Given the description of an element on the screen output the (x, y) to click on. 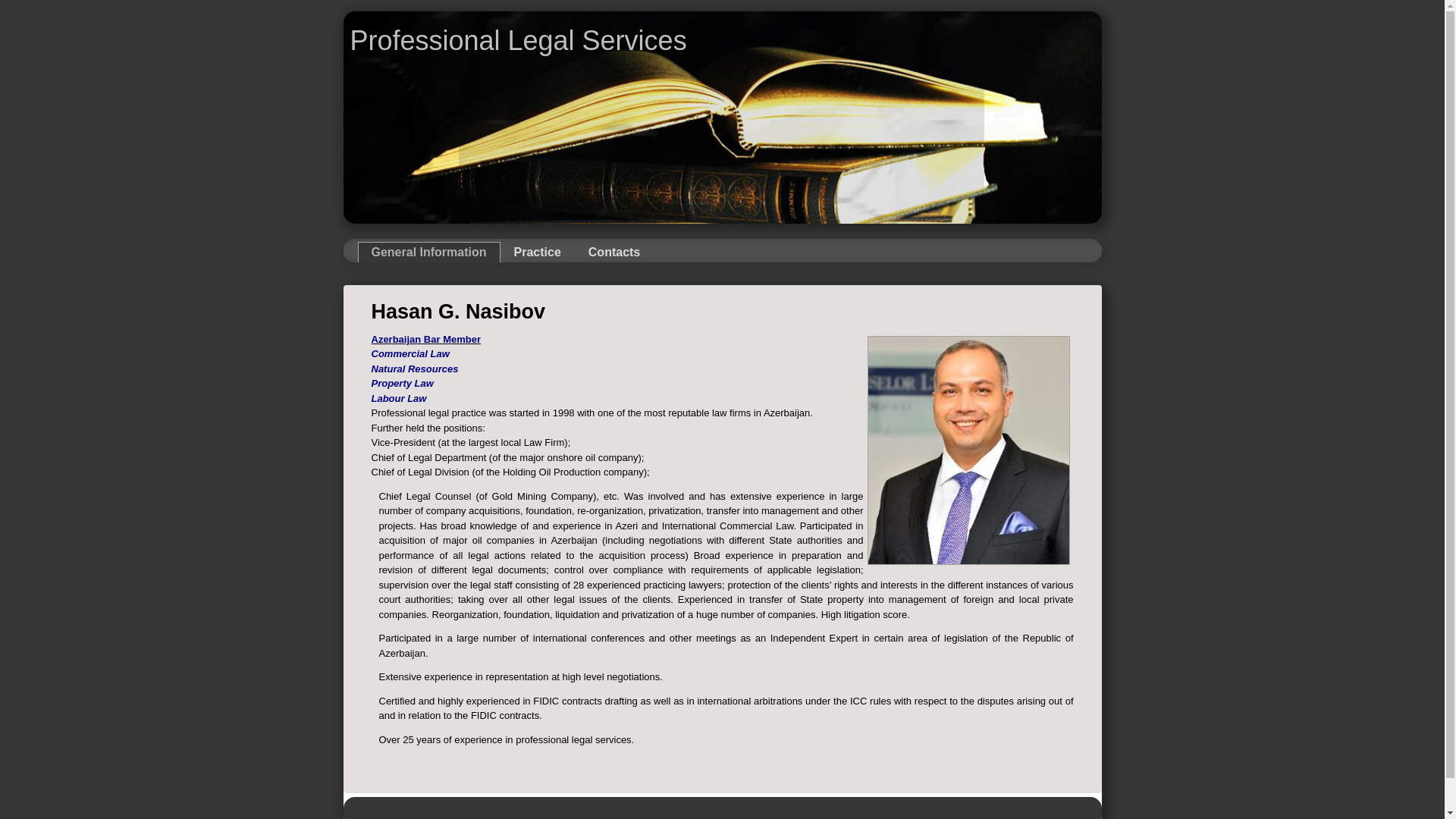
Contacts Element type: text (613, 251)
Practice Element type: text (537, 251)
Professional Legal Services Element type: text (517, 40)
General Information Element type: text (428, 251)
